Given the description of an element on the screen output the (x, y) to click on. 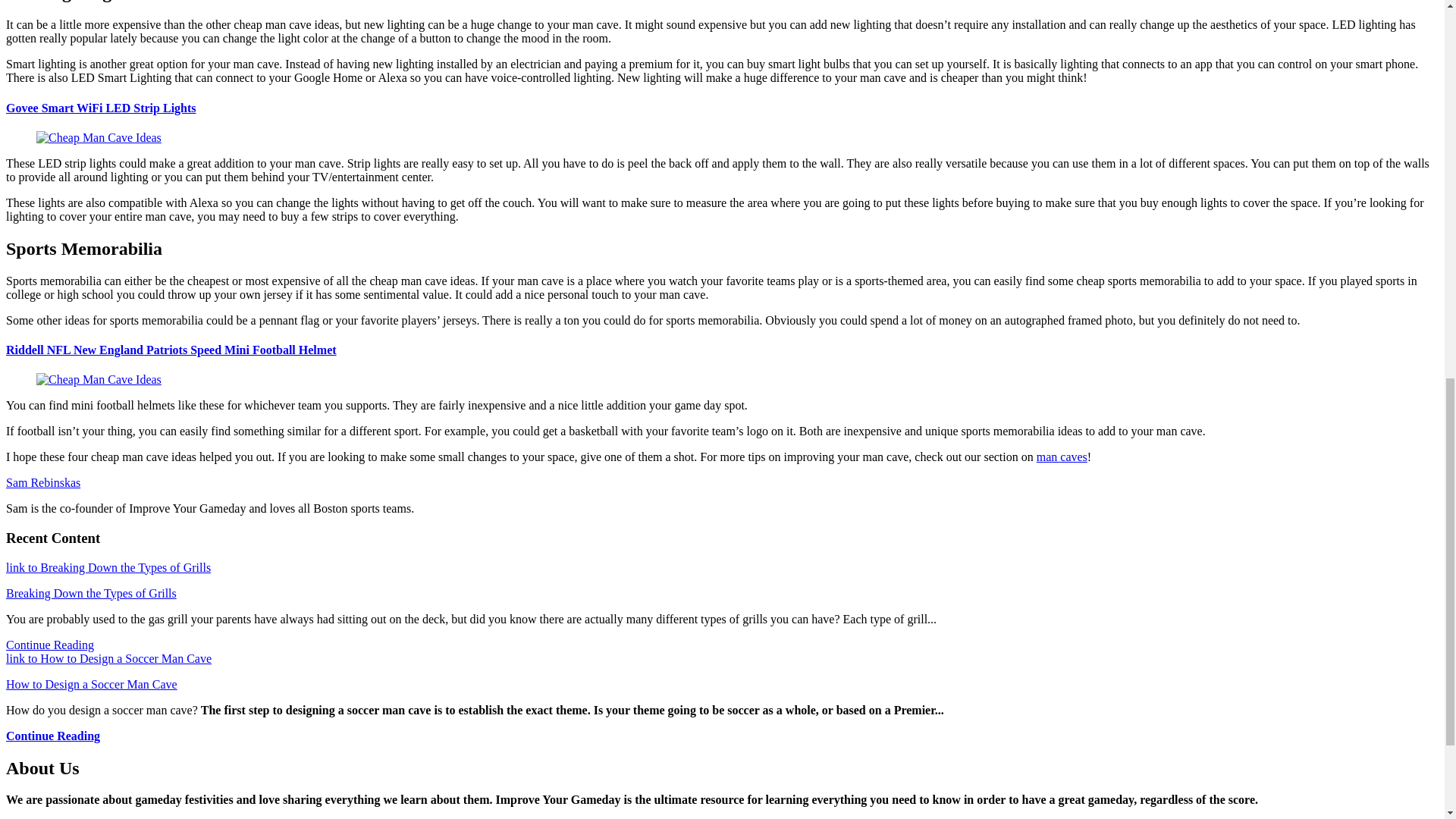
Riddell NFL New England Patriots Speed Mini Football Helmet (170, 349)
Breaking Down the Types of Grills (90, 593)
How to Design a Soccer Man Cave (91, 684)
Continue Reading (49, 644)
Govee Smart WiFi LED Strip Lights (100, 107)
man caves (1061, 456)
Continue Reading (52, 735)
Sam Rebinskas (42, 481)
